Given the description of an element on the screen output the (x, y) to click on. 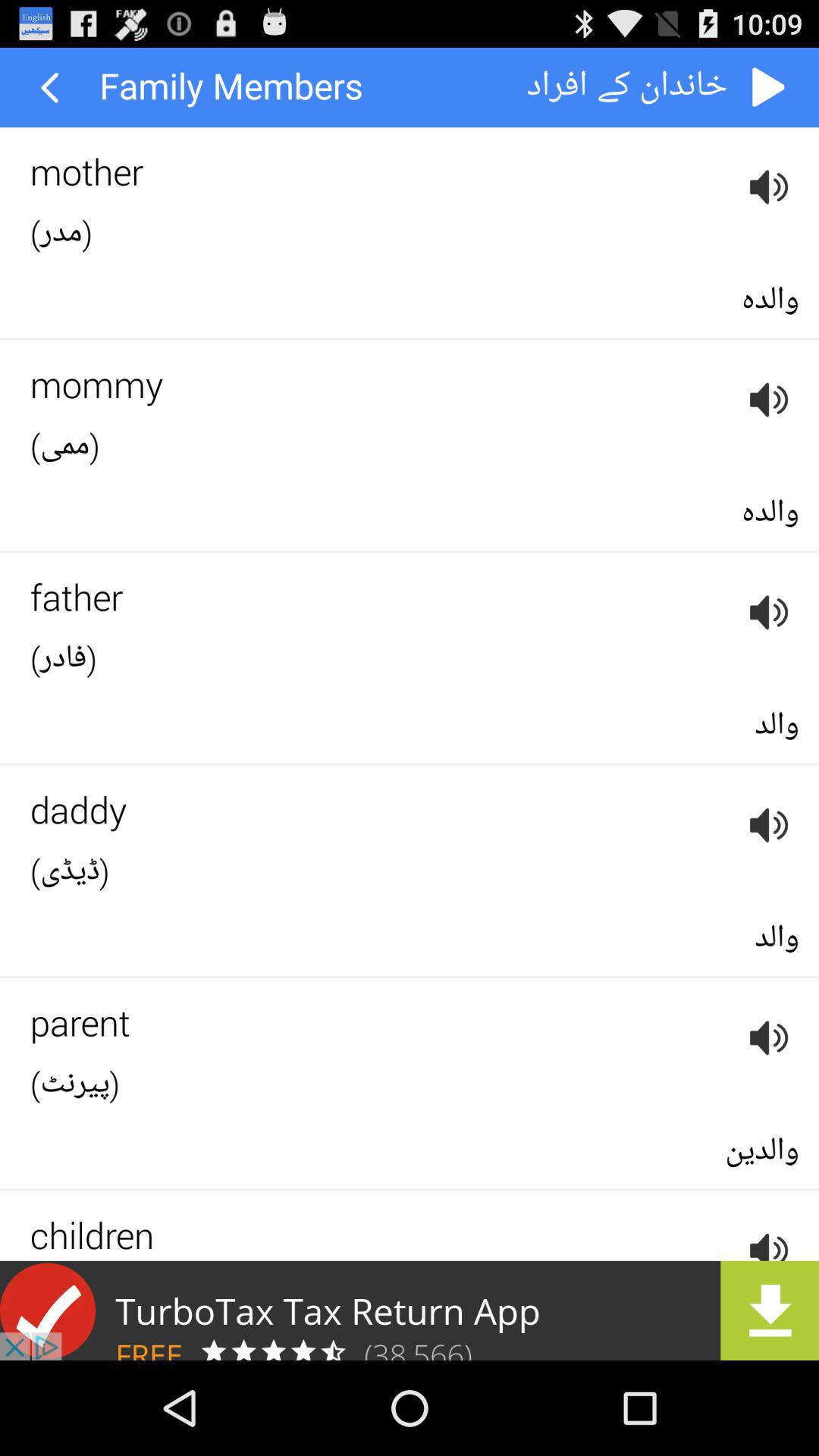
play (768, 87)
